Given the description of an element on the screen output the (x, y) to click on. 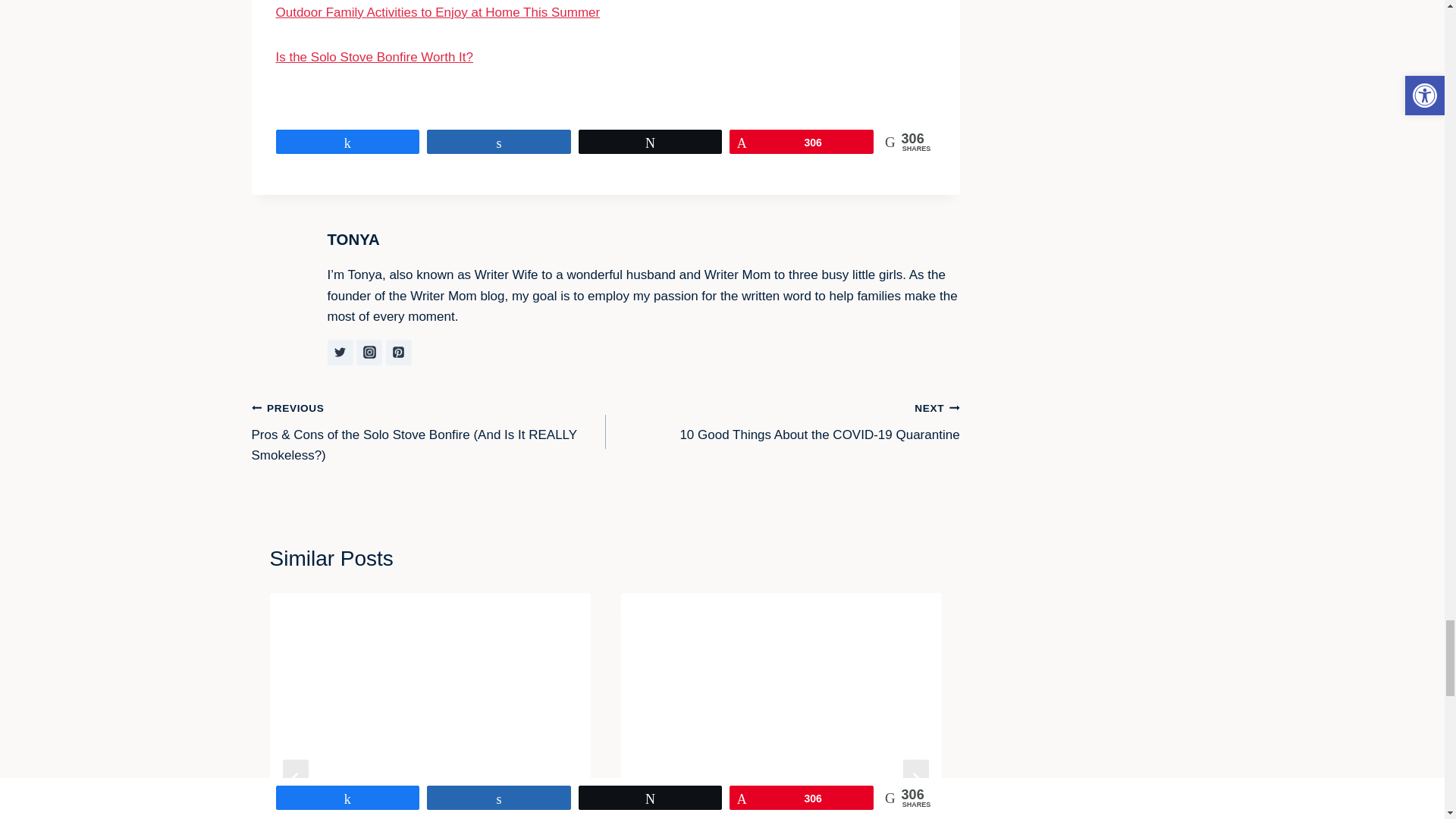
Follow TONYA on Instagram (368, 352)
Follow TONYA on Pinterest (398, 352)
Posts by TONYA (353, 239)
Follow TONYA on Twitter (340, 352)
